Given the description of an element on the screen output the (x, y) to click on. 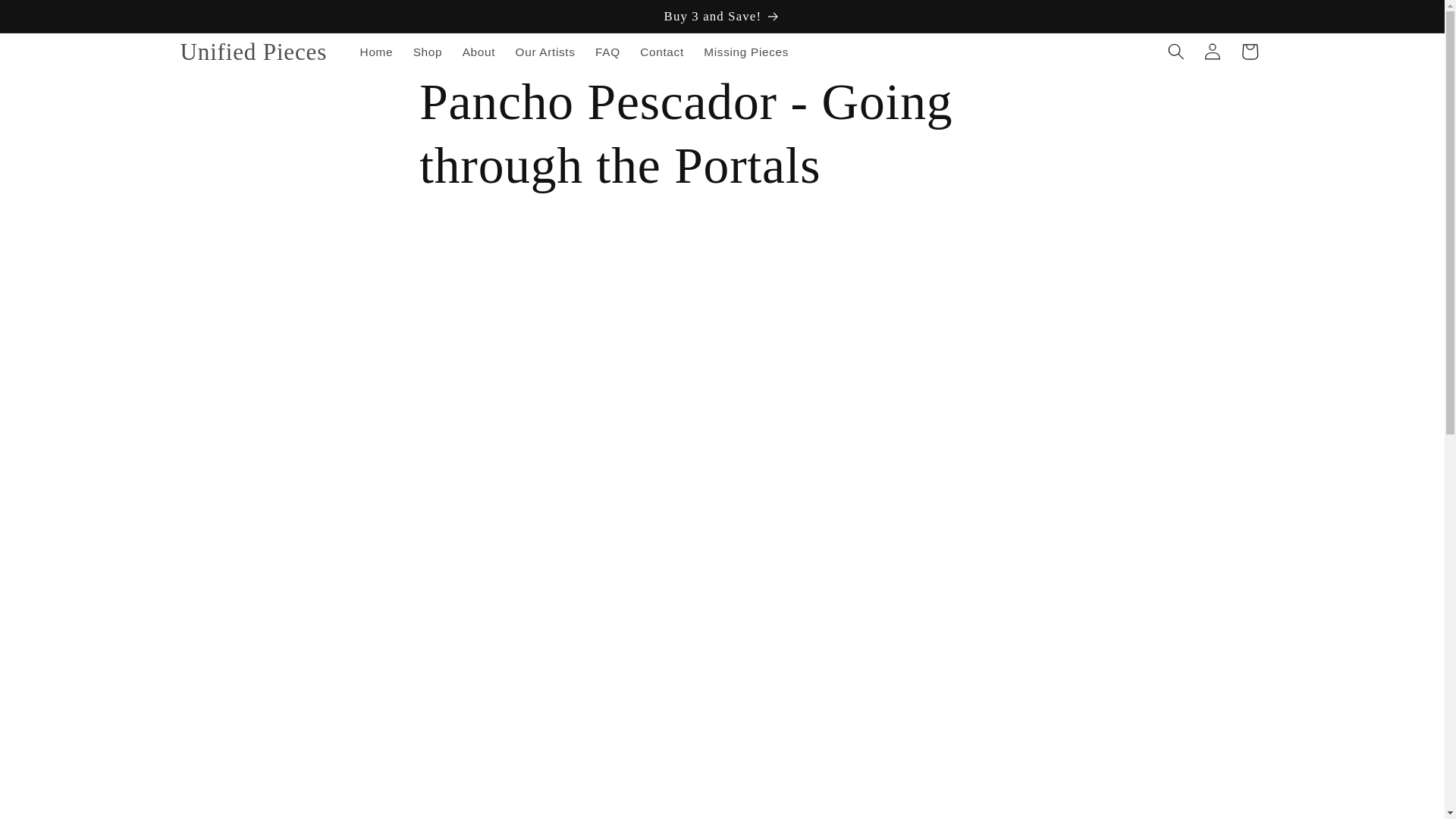
Shop (427, 51)
Skip to content (50, 20)
Log in (1211, 51)
Our Artists (545, 51)
Missing Pieces (745, 51)
Pancho Pescador - Going through the Portals (722, 134)
Home (376, 51)
FAQ (607, 51)
Cart (1249, 51)
Buy 3 and Save! (722, 16)
